Given the description of an element on the screen output the (x, y) to click on. 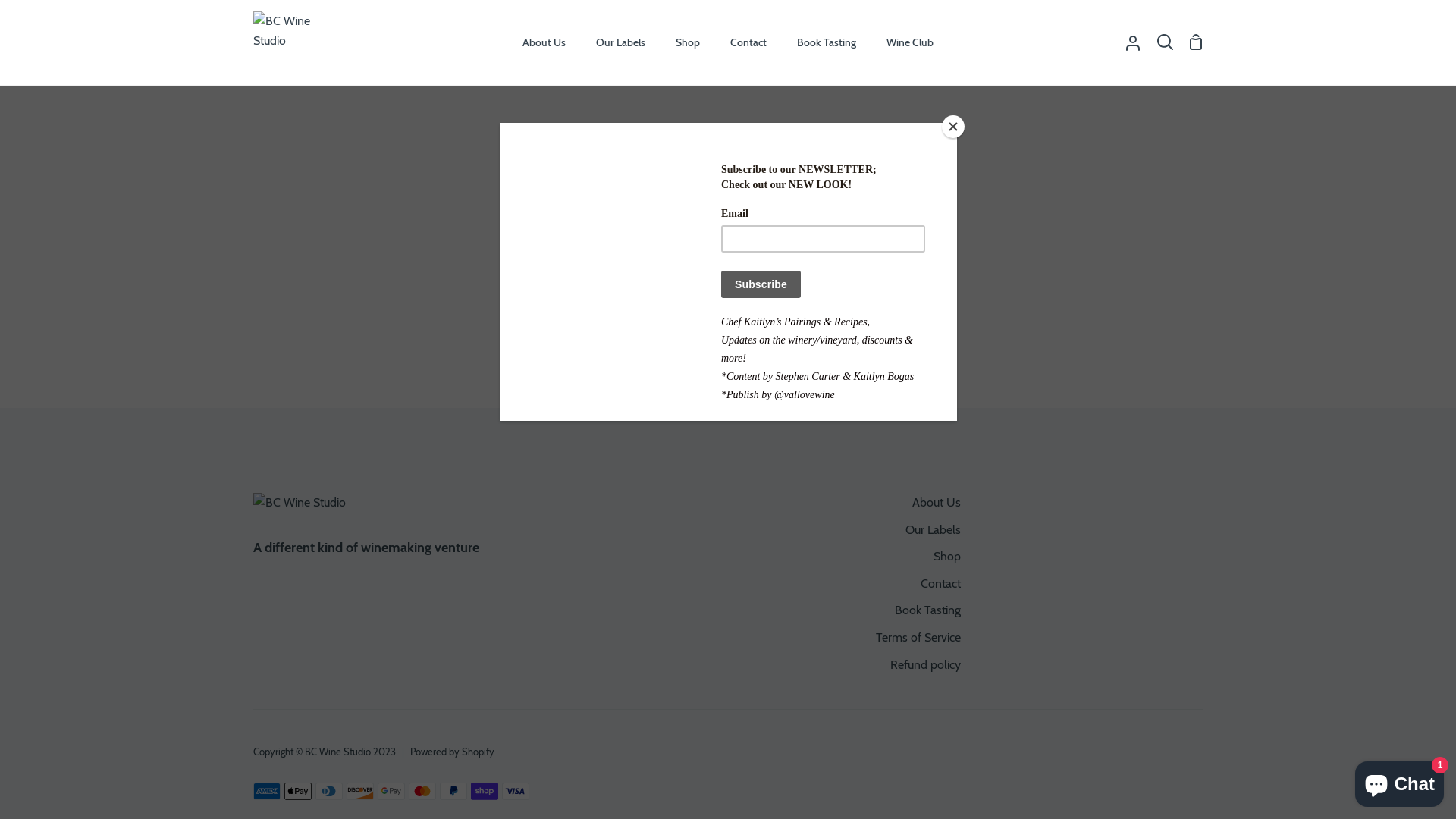
Book Tasting Element type: text (826, 42)
About Us Element type: text (543, 42)
Wine Club Element type: text (909, 42)
About Us Element type: text (936, 502)
Our Labels Element type: text (620, 42)
Shopify online store chat Element type: hover (1399, 780)
Contact Element type: text (748, 42)
Search Element type: text (1164, 42)
Shop Element type: text (687, 42)
Refund policy Element type: text (925, 664)
Book Tasting Element type: text (927, 609)
Shop Element type: text (946, 556)
Our Labels Element type: text (932, 529)
Powered by Shopify Element type: text (452, 751)
Terms of Service Element type: text (917, 637)
Shopping Cart Element type: text (1195, 42)
My Account Element type: text (1132, 42)
Contact Element type: text (940, 583)
